Given the description of an element on the screen output the (x, y) to click on. 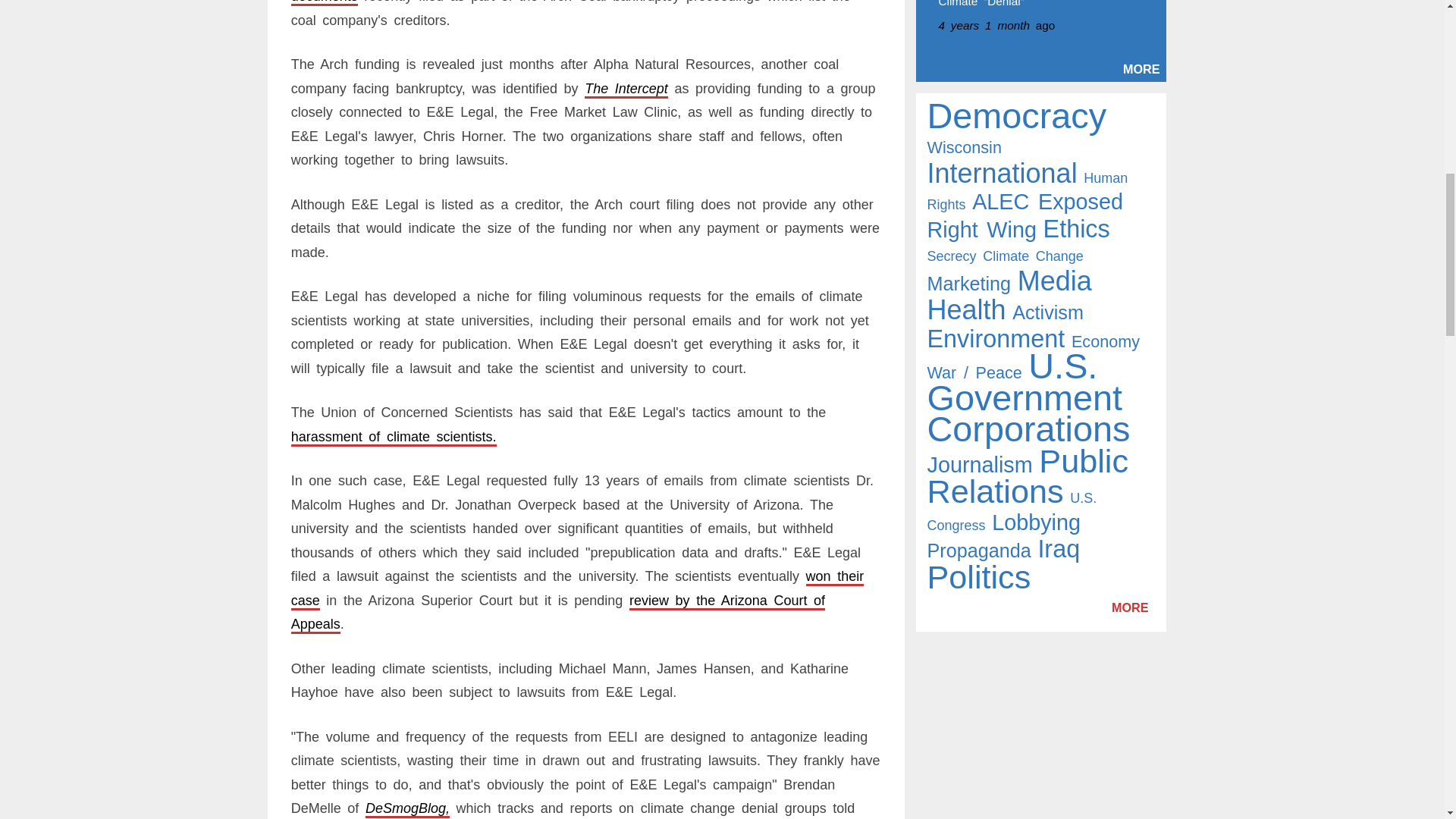
review by the Arizona Court of Appeals (558, 612)
harassment of climate scientists. (393, 436)
documents (324, 2)
won their case (577, 588)
The Intercept (626, 88)
DeSmogBlog, (407, 807)
